Given the description of an element on the screen output the (x, y) to click on. 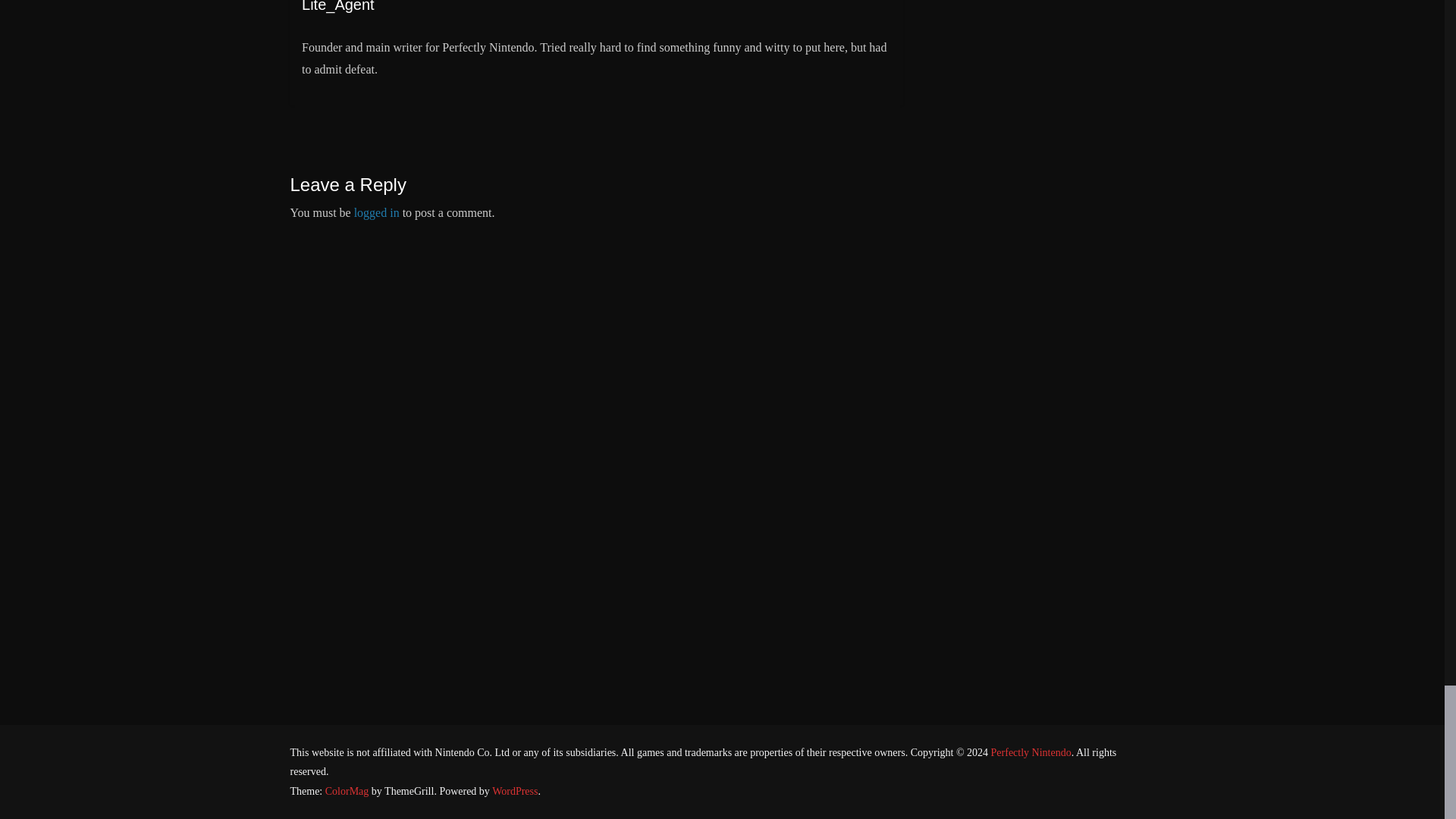
WordPress (514, 790)
Perfectly Nintendo (1031, 752)
ColorMag (346, 790)
